Given the description of an element on the screen output the (x, y) to click on. 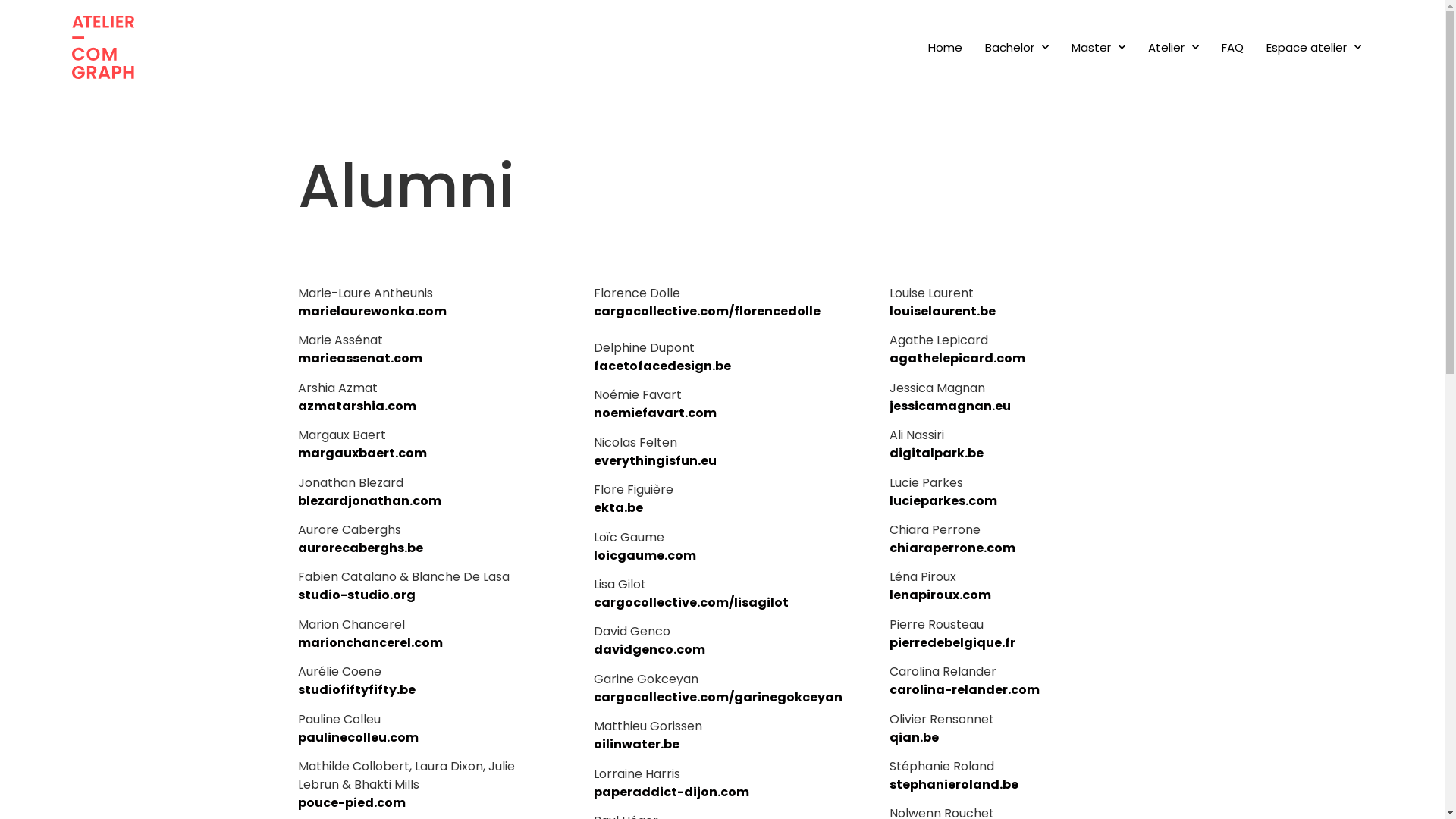
oilinwater.be Element type: text (635, 744)
loicgaume.com Element type: text (644, 555)
digitalpark.be Element type: text (935, 452)
studio-studio.org Element type: text (355, 594)
marieassenat.com Element type: text (359, 358)
Master Element type: text (1098, 47)
Home Element type: text (944, 47)
everythingisfun.eu Element type: text (654, 460)
pierredebelgique.fr Element type: text (951, 642)
studiofiftyfifty.be Element type: text (355, 689)
azmatarshia.com Element type: text (356, 405)
louiselaurent.be Element type: text (941, 311)
facetofacedesign.be Element type: text (661, 365)
paperaddict-dijon.com Element type: text (670, 791)
cargocollective.com/lisagilot Element type: text (690, 602)
Bachelor Element type: text (1016, 47)
FAQ Element type: text (1232, 47)
aurorecaberghs.be Element type: text (359, 547)
lenapiroux.com Element type: text (939, 594)
Atelier Element type: text (1173, 47)
Espace atelier Element type: text (1313, 47)
blezardjonathan.com Element type: text (368, 500)
marionchancerel.com Element type: text (369, 642)
carolina-relander.com Element type: text (963, 689)
pouce-pied.com Element type: text (350, 802)
margauxbaert.com Element type: text (361, 452)
cargocollective.com/florencedolle Element type: text (706, 311)
paulinecolleu.com Element type: text (357, 737)
marielaurewonka.com Element type: text (371, 311)
ekta.be Element type: text (617, 507)
agathelepicard.com Element type: text (956, 358)
noemiefavart.com Element type: text (654, 412)
chiaraperrone.com Element type: text (951, 547)
stephanieroland.be Element type: text (952, 784)
qian.be Element type: text (913, 737)
davidgenco.com Element type: text (648, 649)
jessicamagnan.eu Element type: text (949, 405)
lucieparkes.com Element type: text (942, 500)
cargocollective.com/garinegokceyan Element type: text (717, 697)
